Given the description of an element on the screen output the (x, y) to click on. 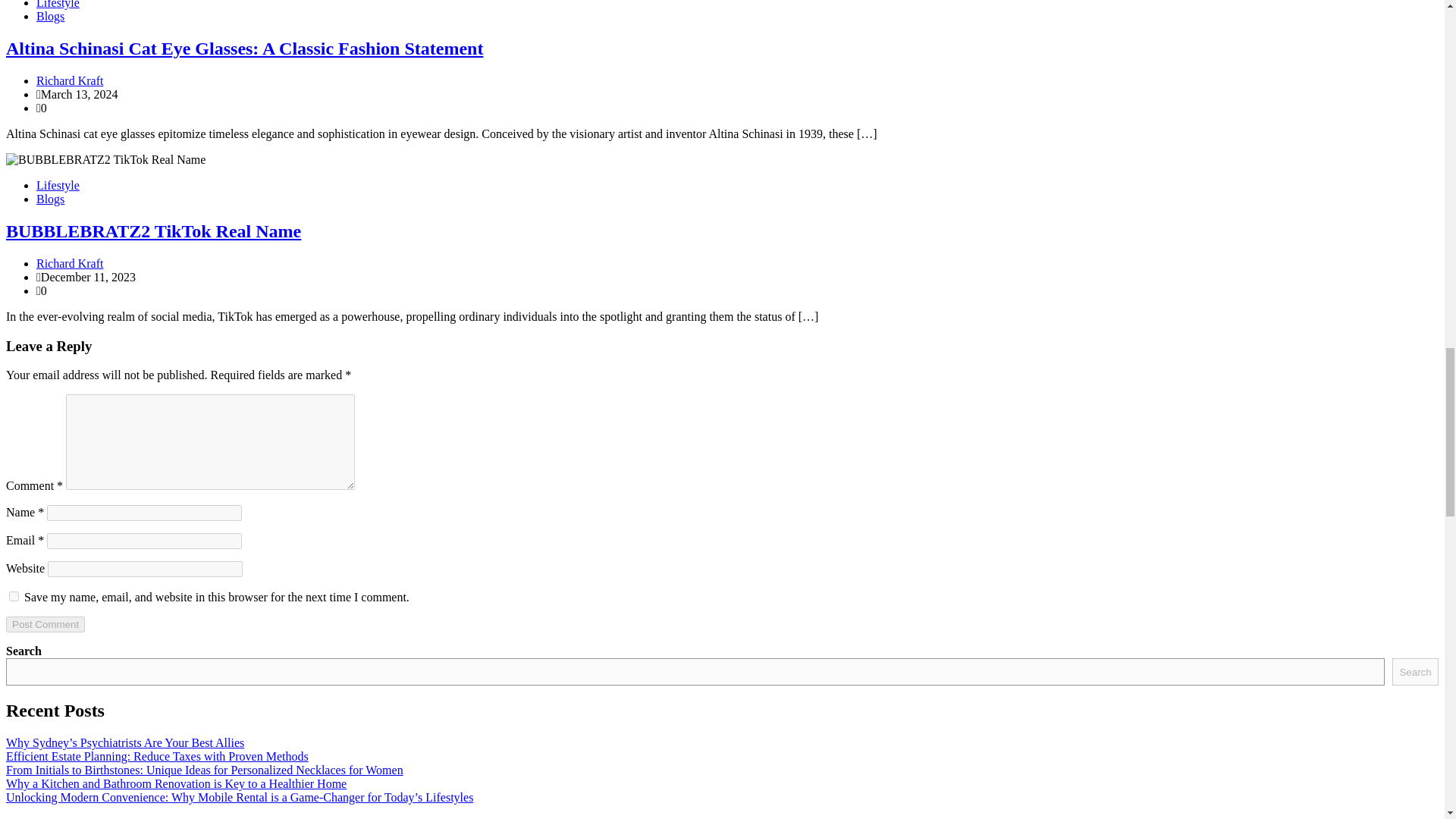
Blogs (50, 15)
Richard Kraft (69, 80)
Post Comment (44, 624)
yes (13, 596)
Post Comment (44, 624)
Lifestyle (58, 185)
Richard Kraft (69, 263)
Lifestyle (58, 4)
Blogs (50, 198)
Altina Schinasi Cat Eye Glasses: A Classic Fashion Statement (244, 48)
